Given the description of an element on the screen output the (x, y) to click on. 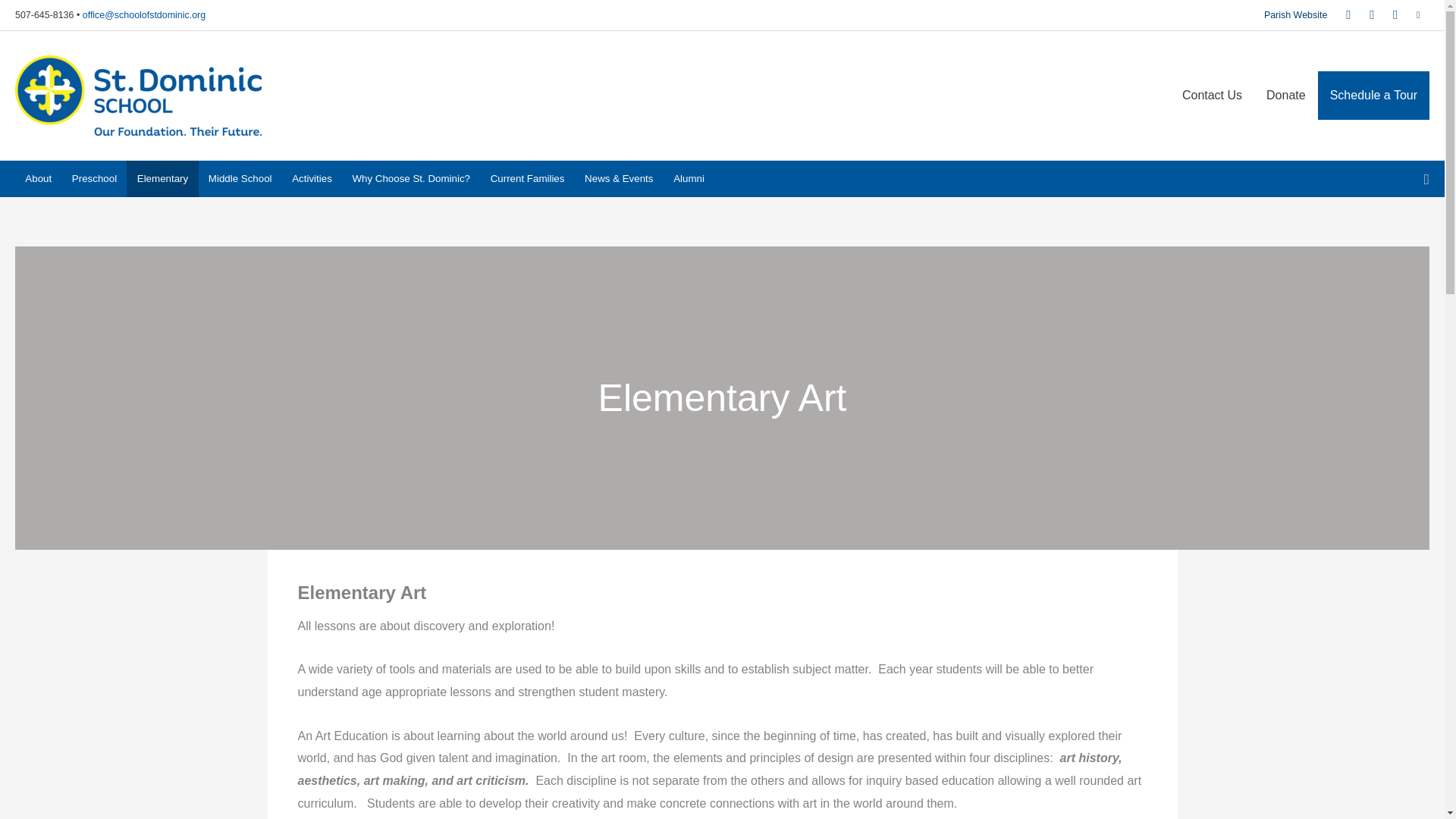
Schedule a Tour (1373, 95)
Parish Website (1294, 15)
Contact Us (1211, 95)
Donate (1285, 95)
